Given the description of an element on the screen output the (x, y) to click on. 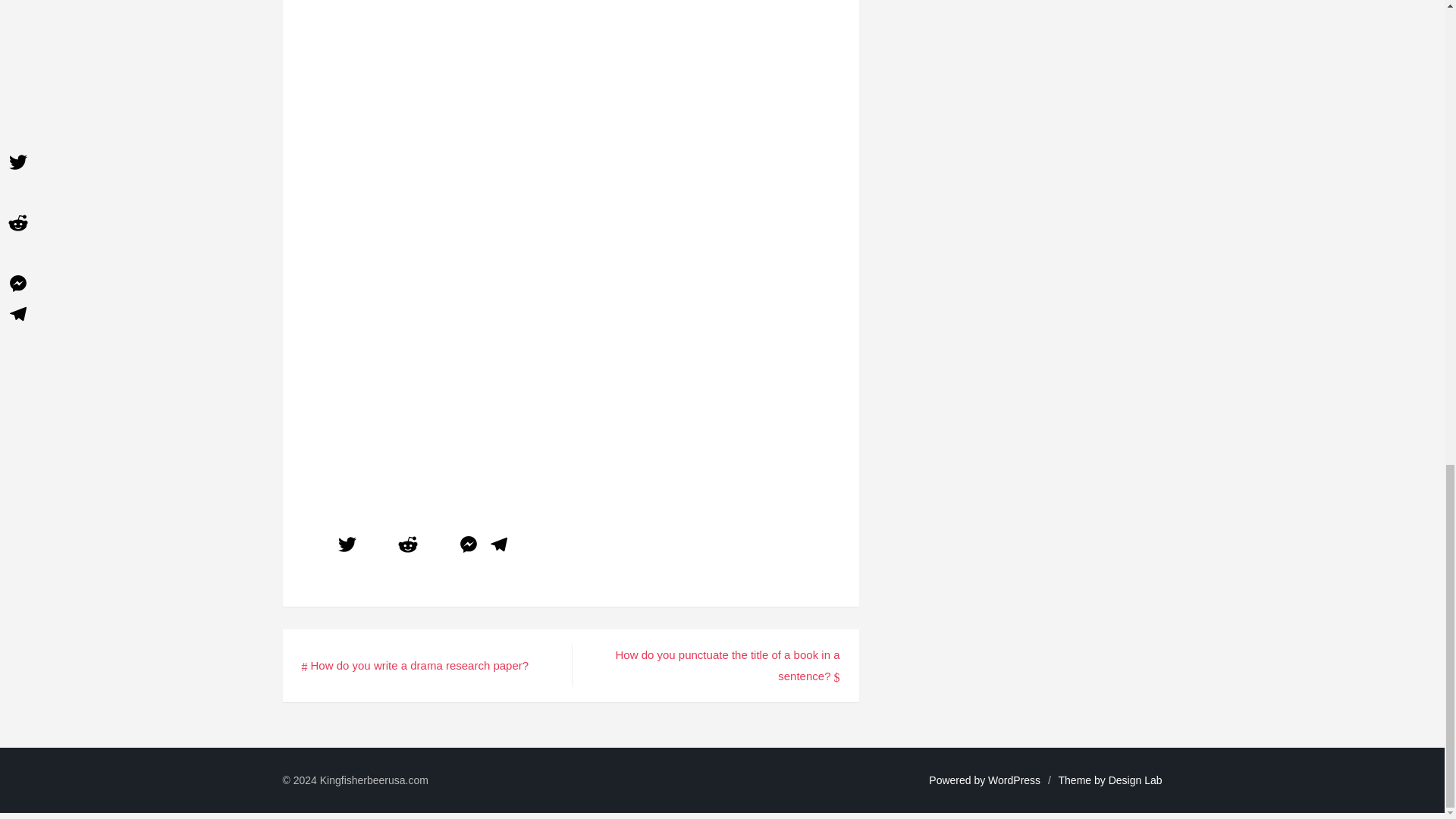
Powered by WordPress (984, 779)
Reddit (408, 546)
Facebook (316, 546)
Twitter (346, 546)
Twitter (346, 546)
Reddit (408, 546)
Theme by Design Lab (1109, 779)
Email (377, 546)
Facebook (316, 546)
Telegram (498, 546)
How do you write a drama research paper? (415, 665)
How do you punctuate the title of a book in a sentence? (727, 665)
WhatsApp (437, 546)
Messenger (467, 546)
